Given the description of an element on the screen output the (x, y) to click on. 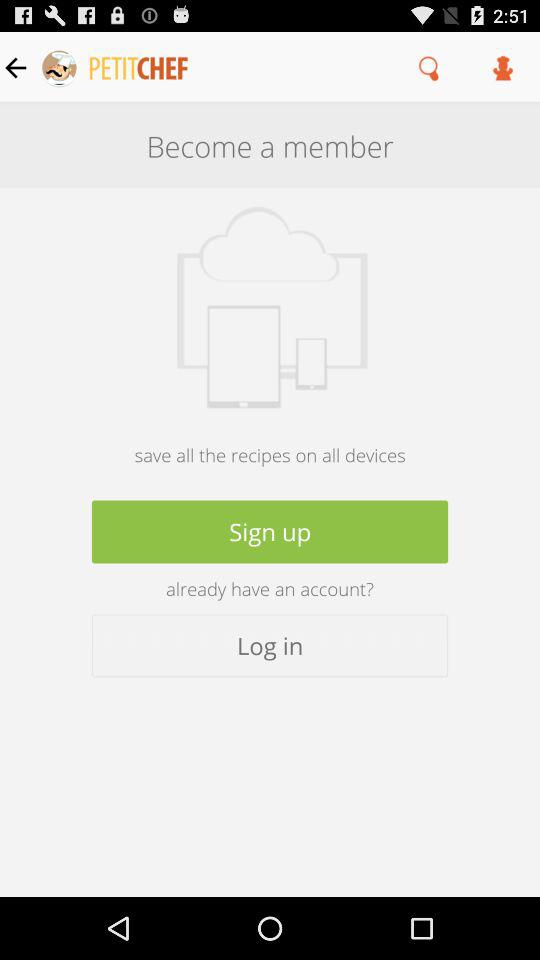
turn on the log in item (269, 645)
